Given the description of an element on the screen output the (x, y) to click on. 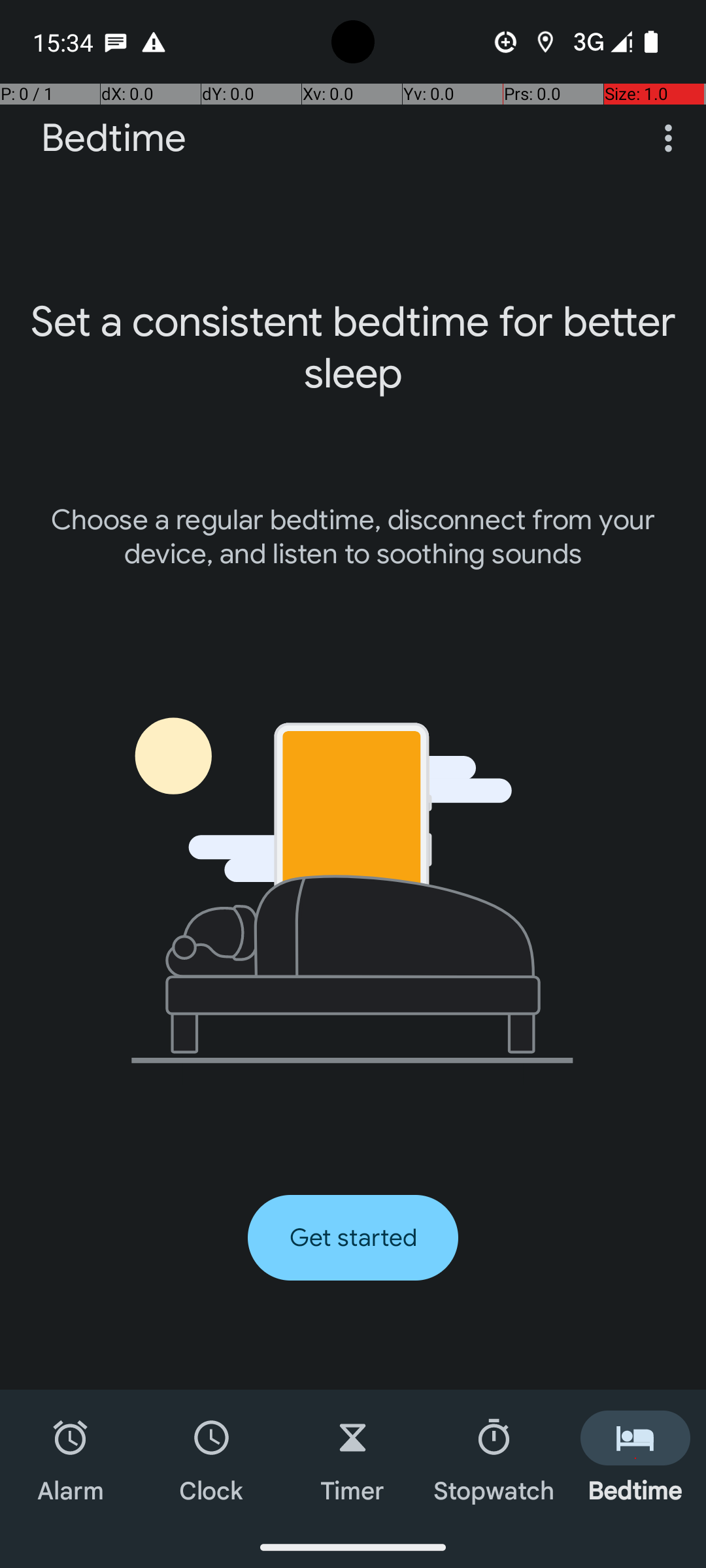
Bedtime Element type: android.widget.TextView (113, 138)
Set a consistent bedtime for better sleep Element type: android.widget.TextView (352, 347)
Choose a regular bedtime, disconnect from your device, and listen to soothing sounds Element type: android.widget.TextView (352, 536)
Get started Element type: android.widget.Button (352, 1237)
Alarm Element type: android.widget.FrameLayout (70, 1457)
Clock Element type: android.widget.FrameLayout (211, 1457)
Timer Element type: android.widget.FrameLayout (352, 1457)
Stopwatch Element type: android.widget.FrameLayout (493, 1457)
